Given the description of an element on the screen output the (x, y) to click on. 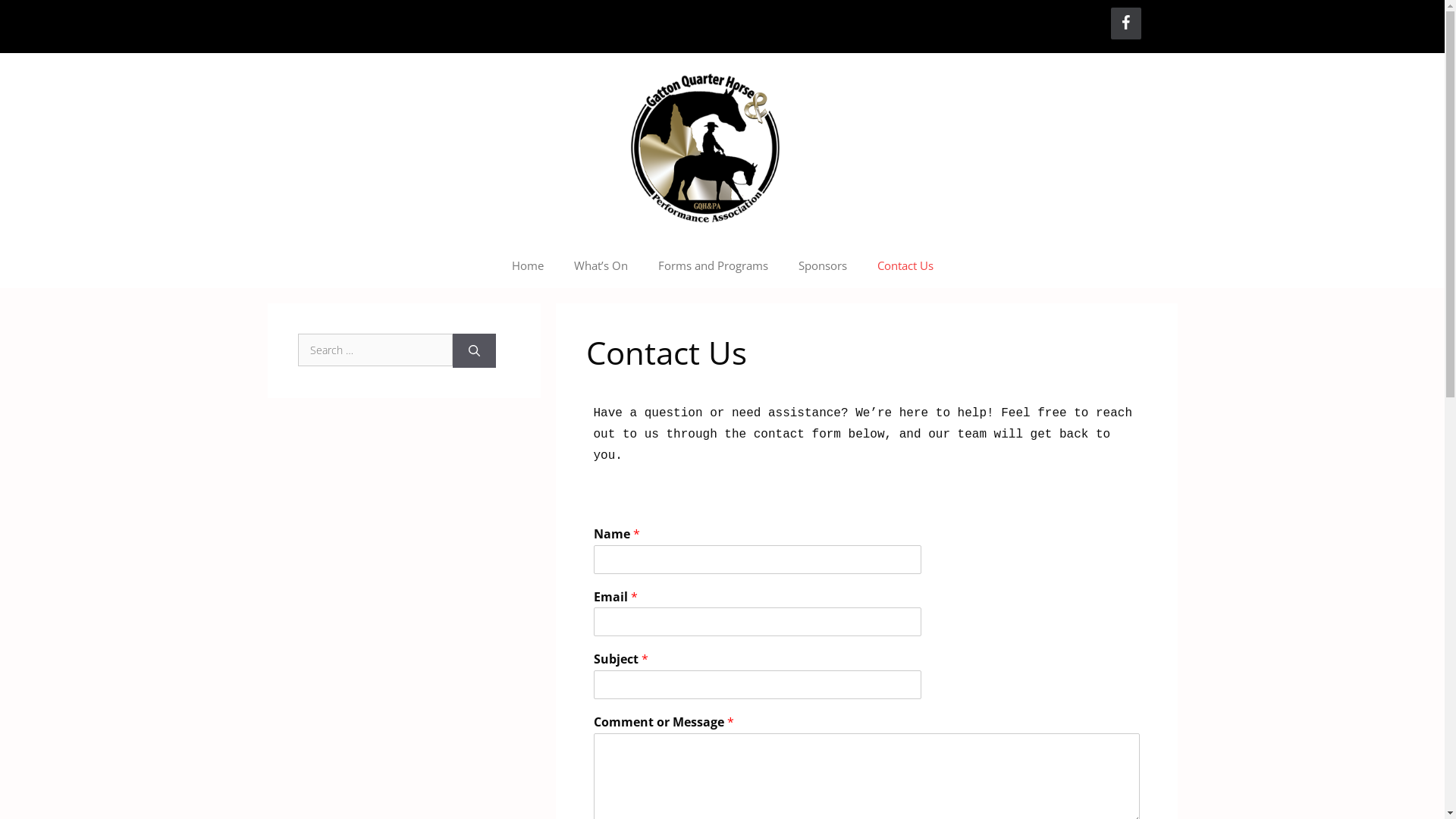
Sponsors Element type: text (821, 265)
Home Element type: text (526, 265)
Contact Us Element type: text (904, 265)
Facebook Element type: hover (1125, 23)
Search for: Element type: hover (374, 349)
Gatton Quarter Horse & Performance Assn Element type: hover (721, 146)
Gatton Quarter Horse & Performance Assn Element type: hover (721, 147)
Forms and Programs Element type: text (713, 265)
